Given the description of an element on the screen output the (x, y) to click on. 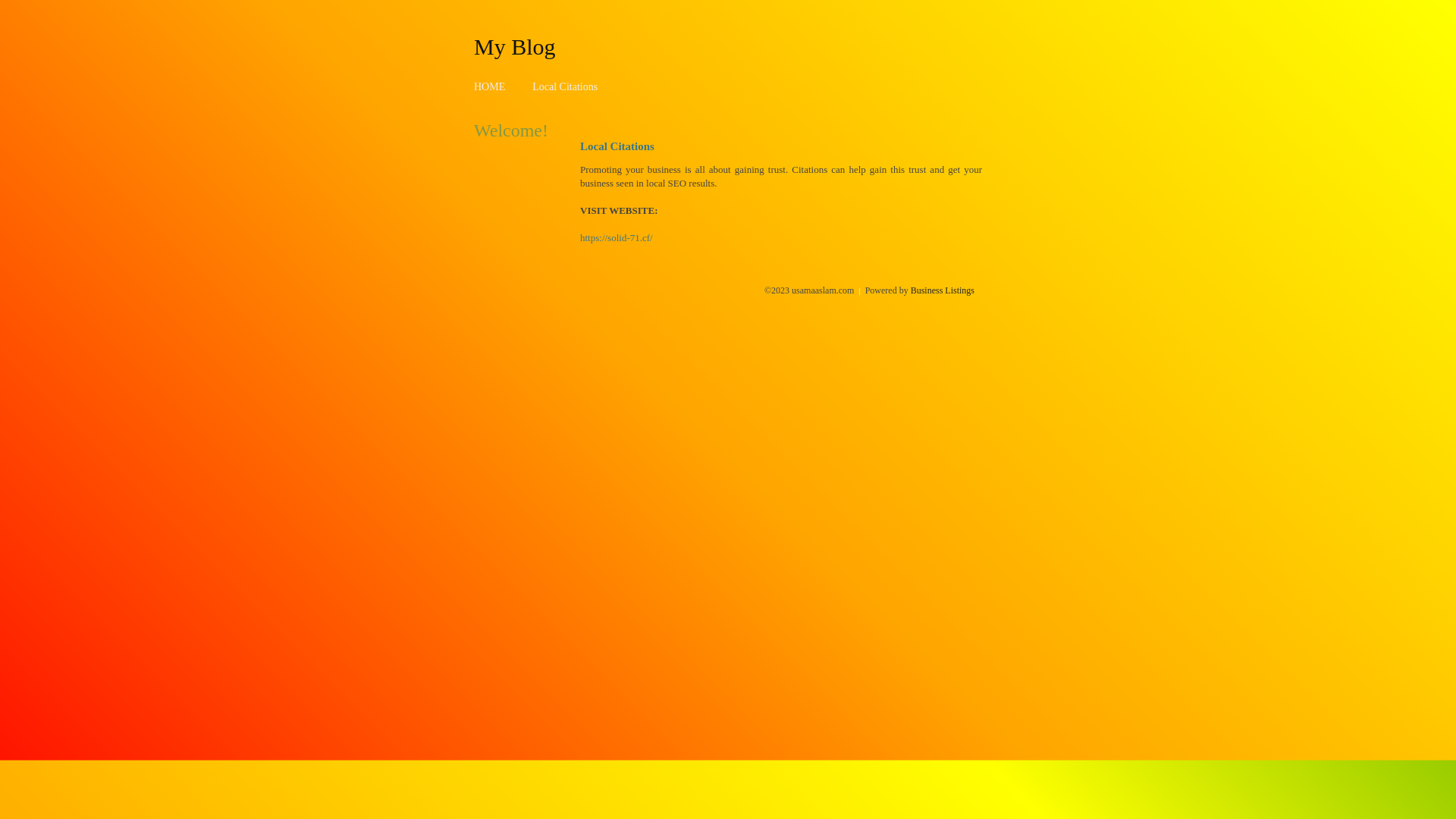
My Blog Element type: text (514, 46)
Local Citations Element type: text (564, 86)
https://solid-71.cf/ Element type: text (616, 237)
Business Listings Element type: text (942, 290)
HOME Element type: text (489, 86)
